Given the description of an element on the screen output the (x, y) to click on. 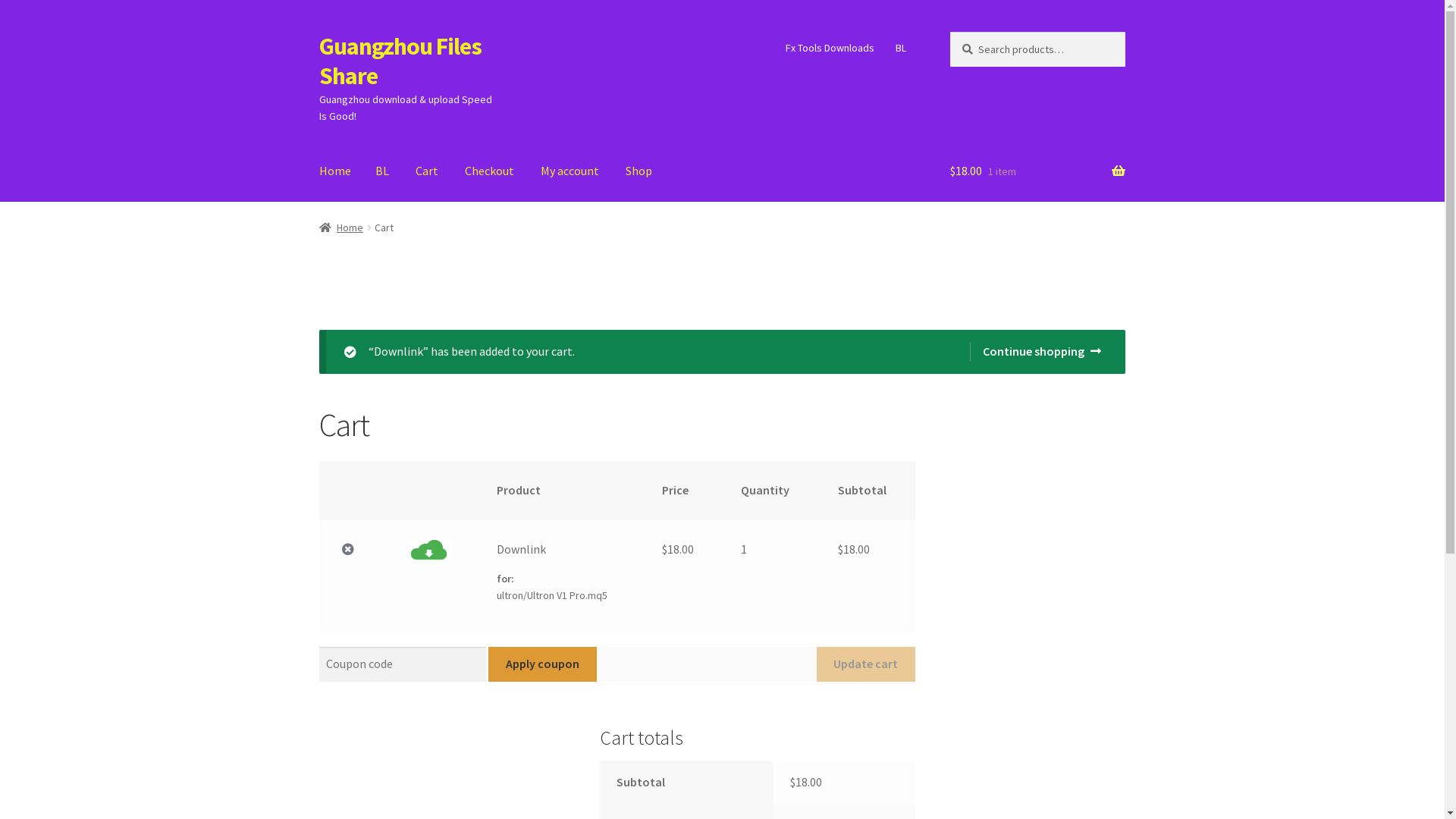
Cart Element type: text (426, 170)
Skip to navigation Element type: text (318, 31)
$18.00 1 item Element type: text (1037, 170)
Home Element type: text (341, 227)
Shop Element type: text (638, 170)
Checkout Element type: text (489, 170)
BL Element type: text (900, 47)
My account Element type: text (569, 170)
Search Element type: text (949, 31)
Update cart Element type: text (865, 663)
Guangzhou Files Share Element type: text (400, 61)
Apply coupon Element type: text (542, 663)
Home Element type: text (335, 170)
BL Element type: text (382, 170)
Continue shopping Element type: text (1035, 351)
Fx Tools Downloads Element type: text (830, 47)
